Given the description of an element on the screen output the (x, y) to click on. 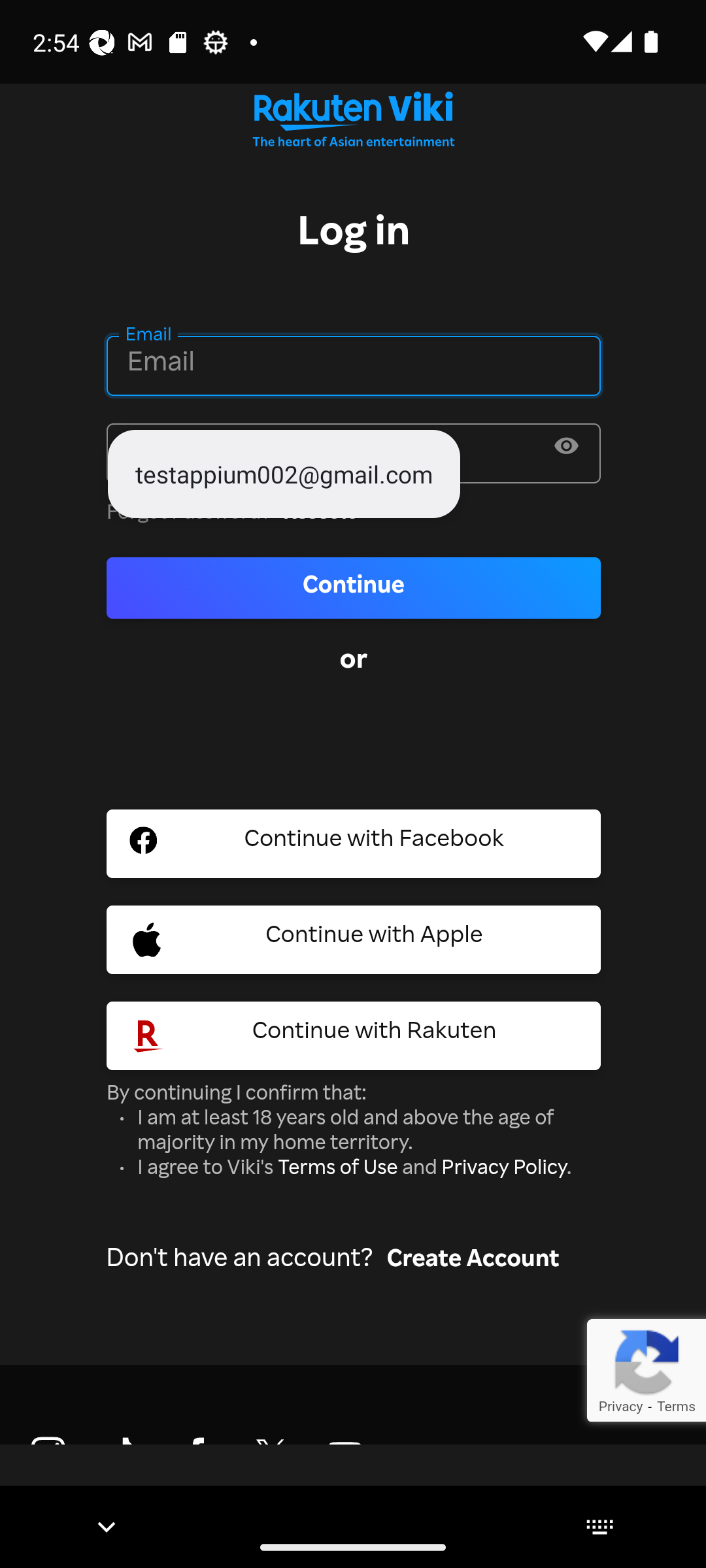
testappium002@gmail.com (284, 473)
